Given the description of an element on the screen output the (x, y) to click on. 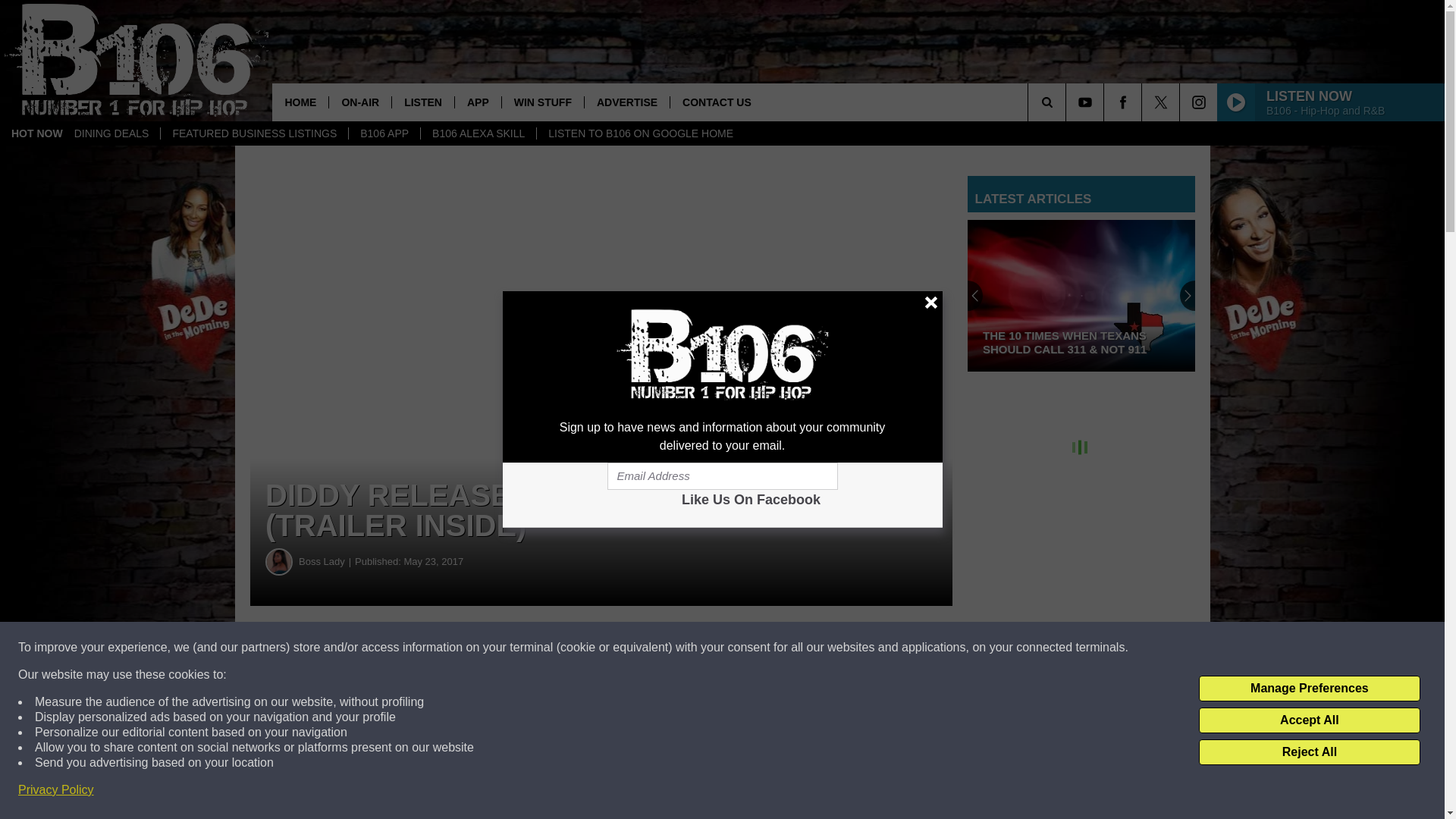
Share on Facebook (460, 647)
DINING DEALS (111, 133)
LISTEN TO B106 ON GOOGLE HOME (639, 133)
B106 APP (383, 133)
LISTEN (422, 102)
WIN STUFF (541, 102)
Accept All (1309, 720)
APP (477, 102)
Email Address (722, 475)
SEARCH (1068, 102)
SEARCH (1068, 102)
Privacy Policy (55, 789)
B106 ALEXA SKILL (477, 133)
FEATURED BUSINESS LISTINGS (253, 133)
CONTACT US (715, 102)
